Given the description of an element on the screen output the (x, y) to click on. 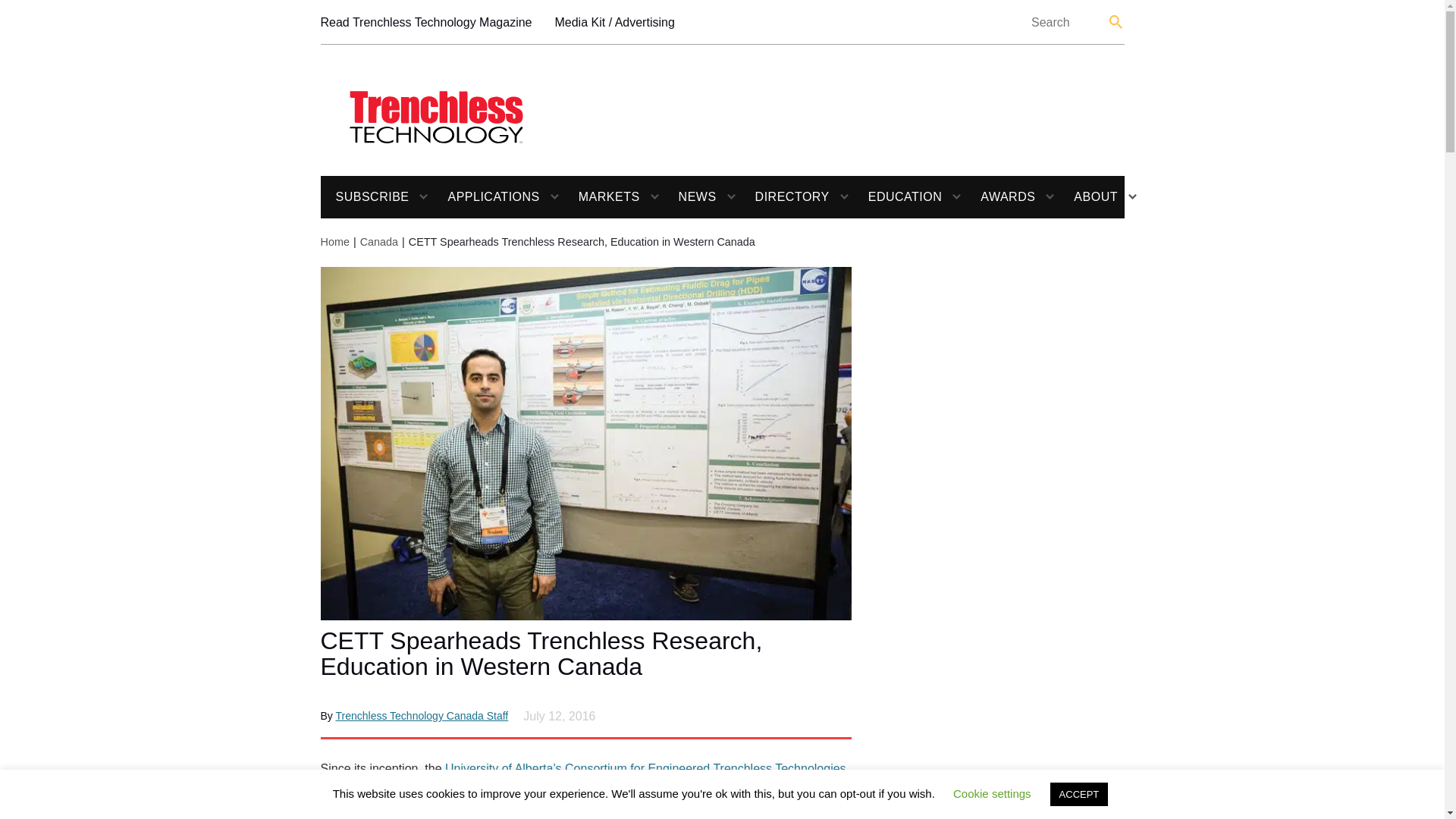
Go to the Canada category archives. (378, 241)
NEWS (689, 197)
MARKETS (601, 197)
SUBSCRIBE (364, 197)
Go to Trenchless Technology. (334, 241)
Search (1116, 21)
Read Trenchless Technology Magazine (425, 22)
APPLICATIONS (485, 197)
